Given the description of an element on the screen output the (x, y) to click on. 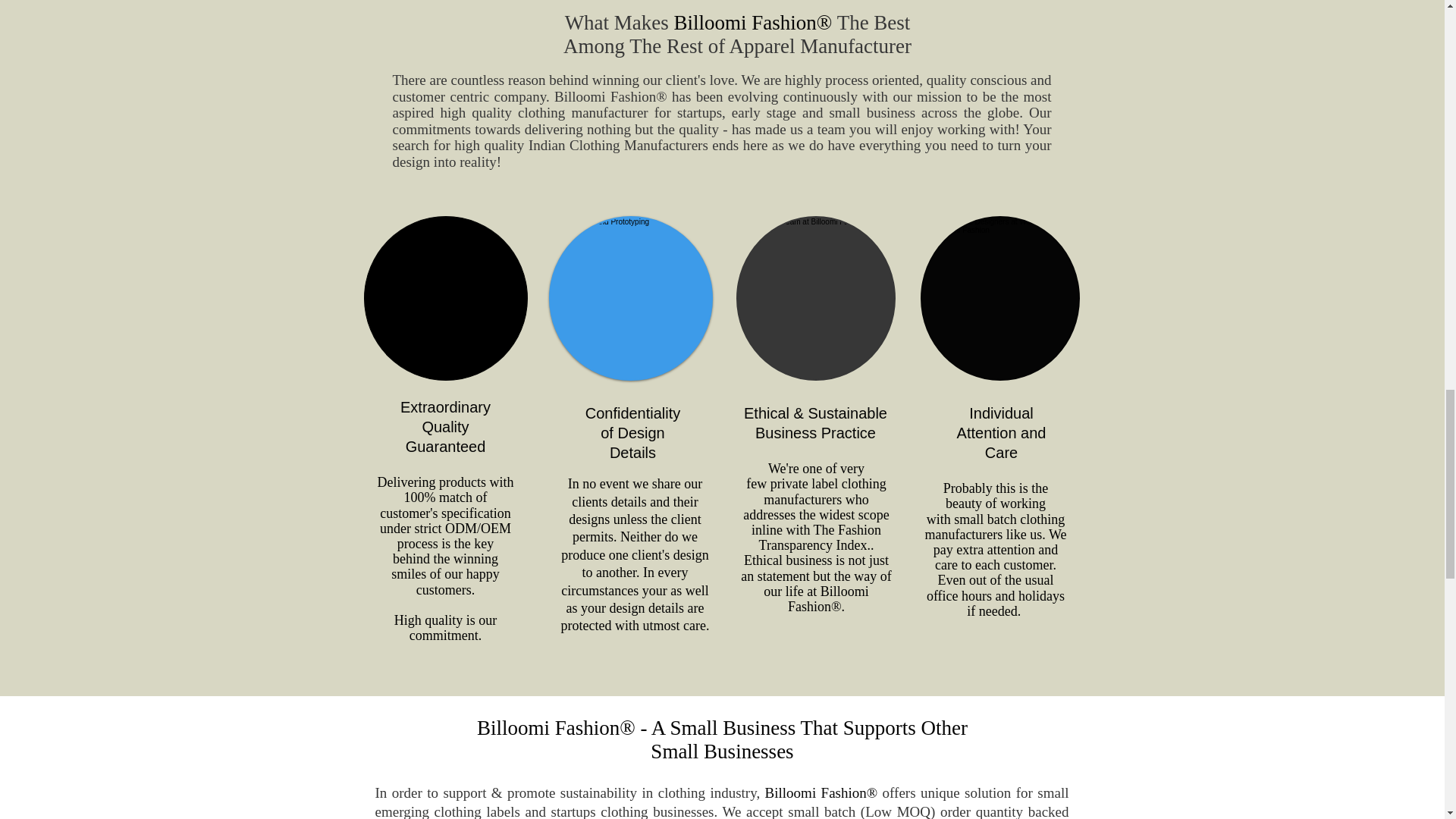
small batch clothing manufacturers (994, 526)
private label clothing manufacturers (823, 490)
guy2.jpg (445, 298)
guy4.jpg (630, 298)
guy3.jpg (1000, 298)
guy3.jpg (815, 298)
